Given the description of an element on the screen output the (x, y) to click on. 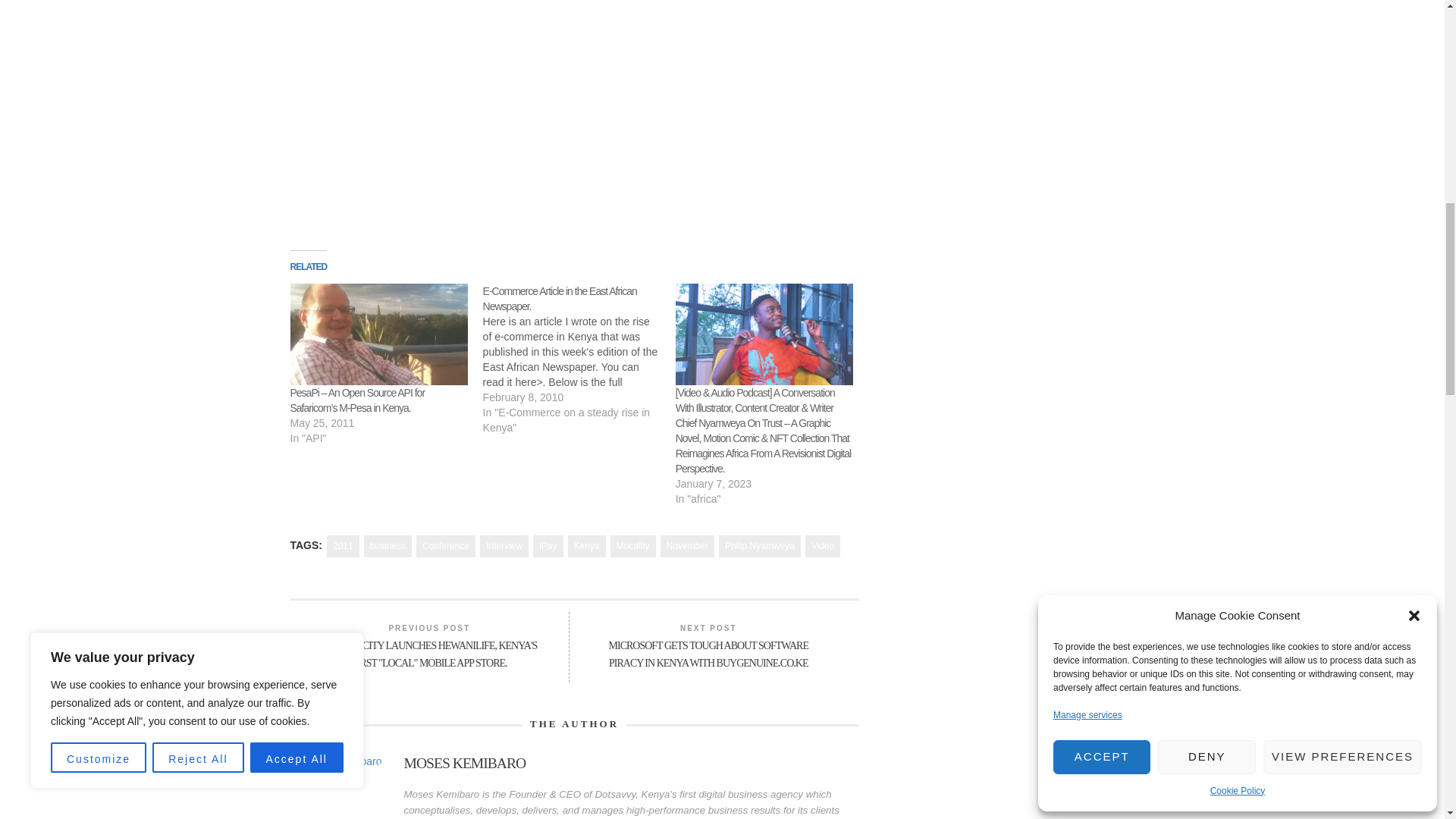
E-Commerce Article in the East African Newspaper. (579, 358)
E-Commerce Article in the East African Newspaper. (560, 298)
